Given the description of an element on the screen output the (x, y) to click on. 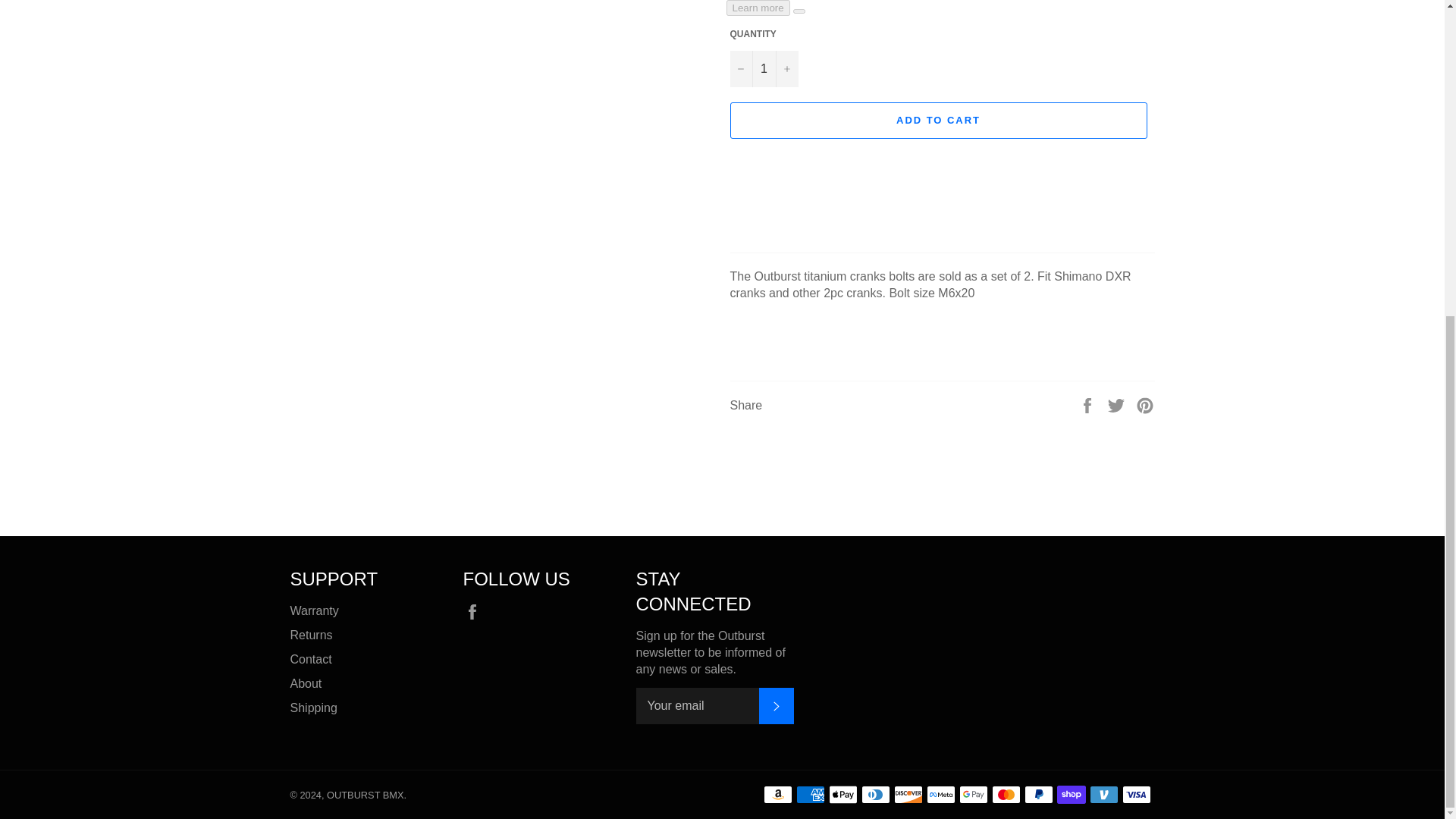
CONTACT (310, 658)
Share on Facebook (1088, 404)
ABOUT US (305, 683)
Returns (310, 634)
1 (763, 68)
Pin on Pinterest (1144, 404)
Warranty (313, 610)
Shipping (312, 707)
Tweet on Twitter (1117, 404)
OUTBURST BMX on Facebook (475, 611)
